Given the description of an element on the screen output the (x, y) to click on. 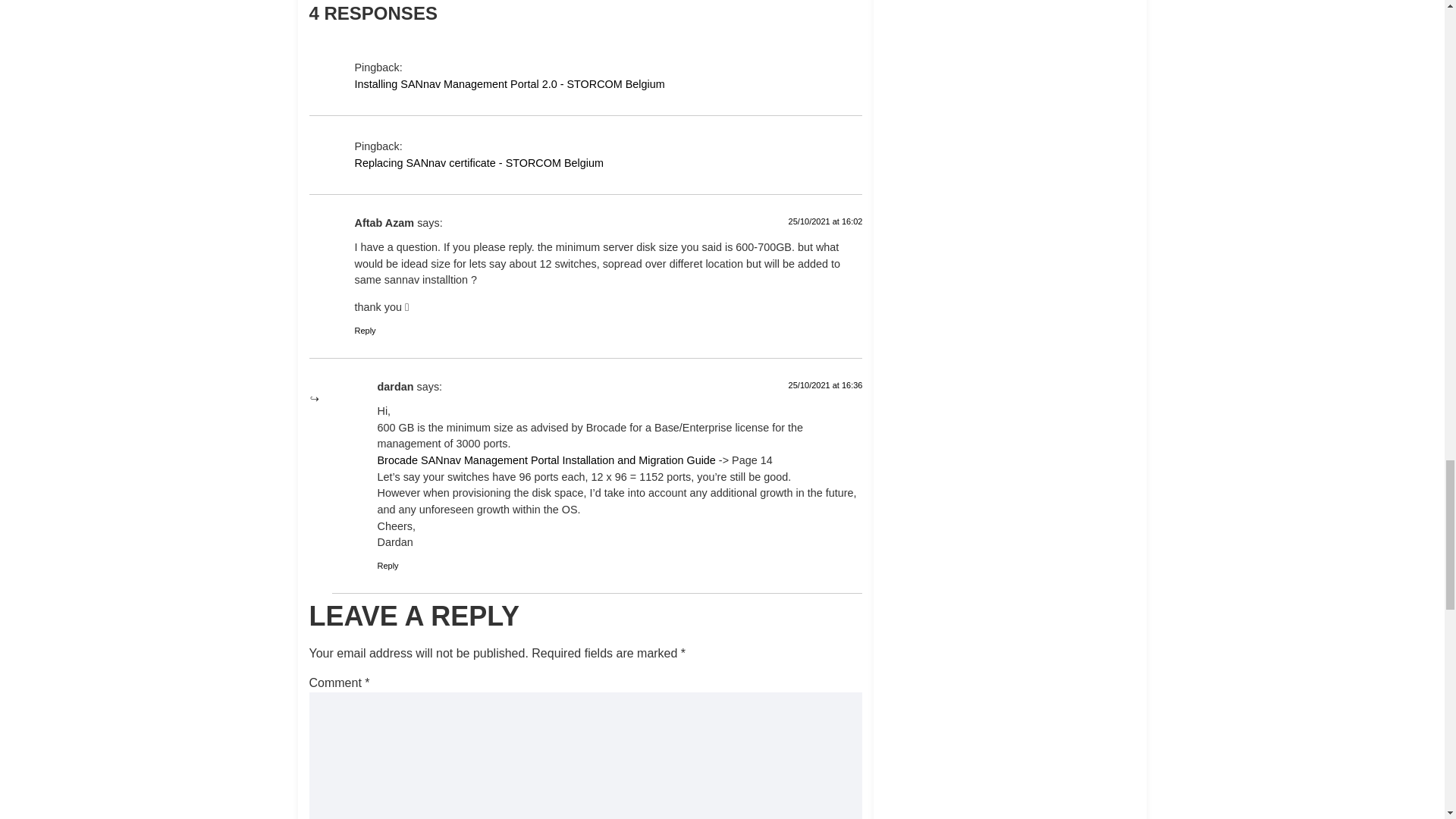
Installing SANnav Management Portal 2.0 - STORCOM Belgium (609, 84)
Replacing SANnav certificate - STORCOM Belgium (609, 163)
Reply (365, 329)
Reply (387, 565)
